Given the description of an element on the screen output the (x, y) to click on. 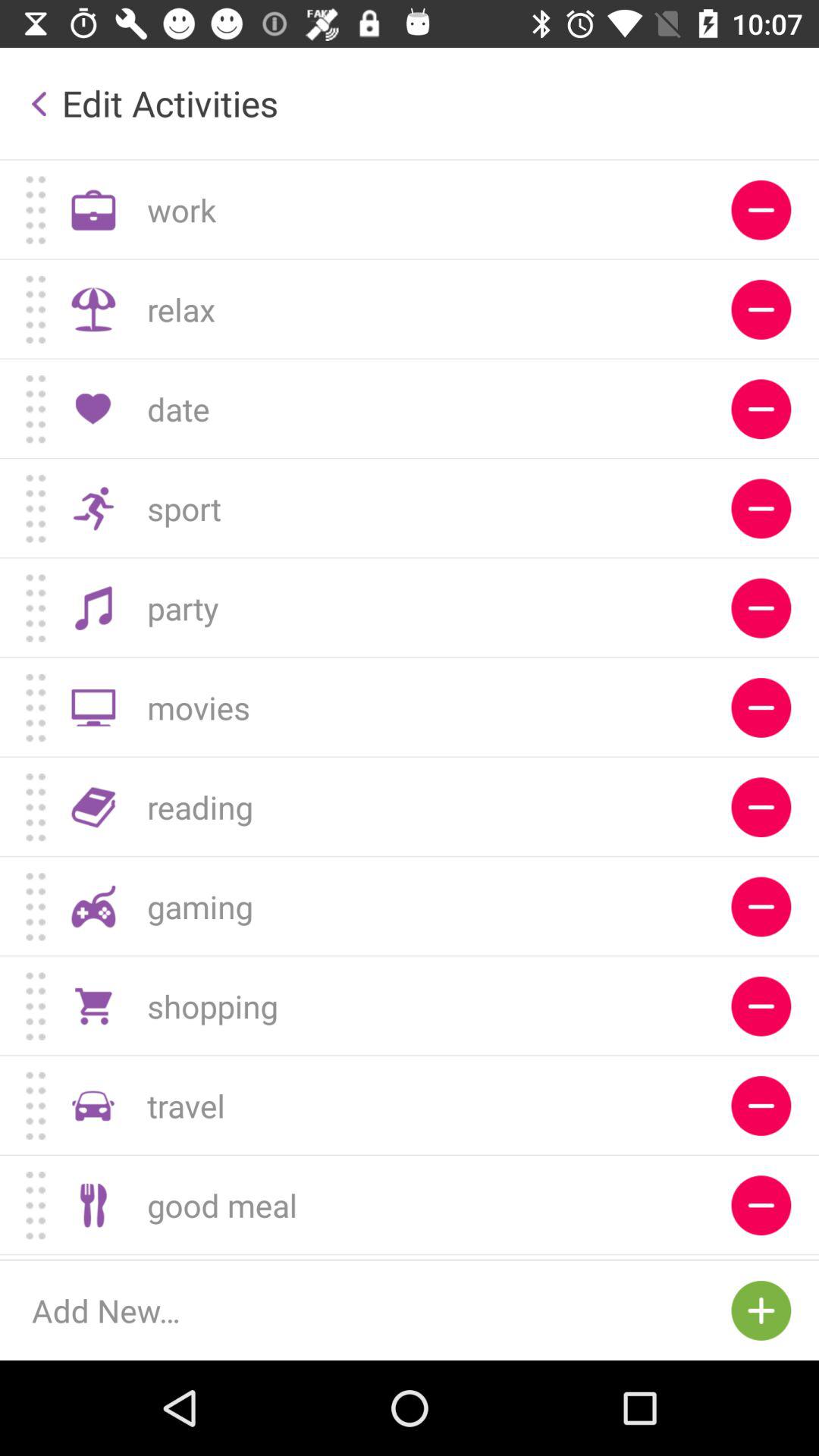
enable the option (761, 1006)
